Given the description of an element on the screen output the (x, y) to click on. 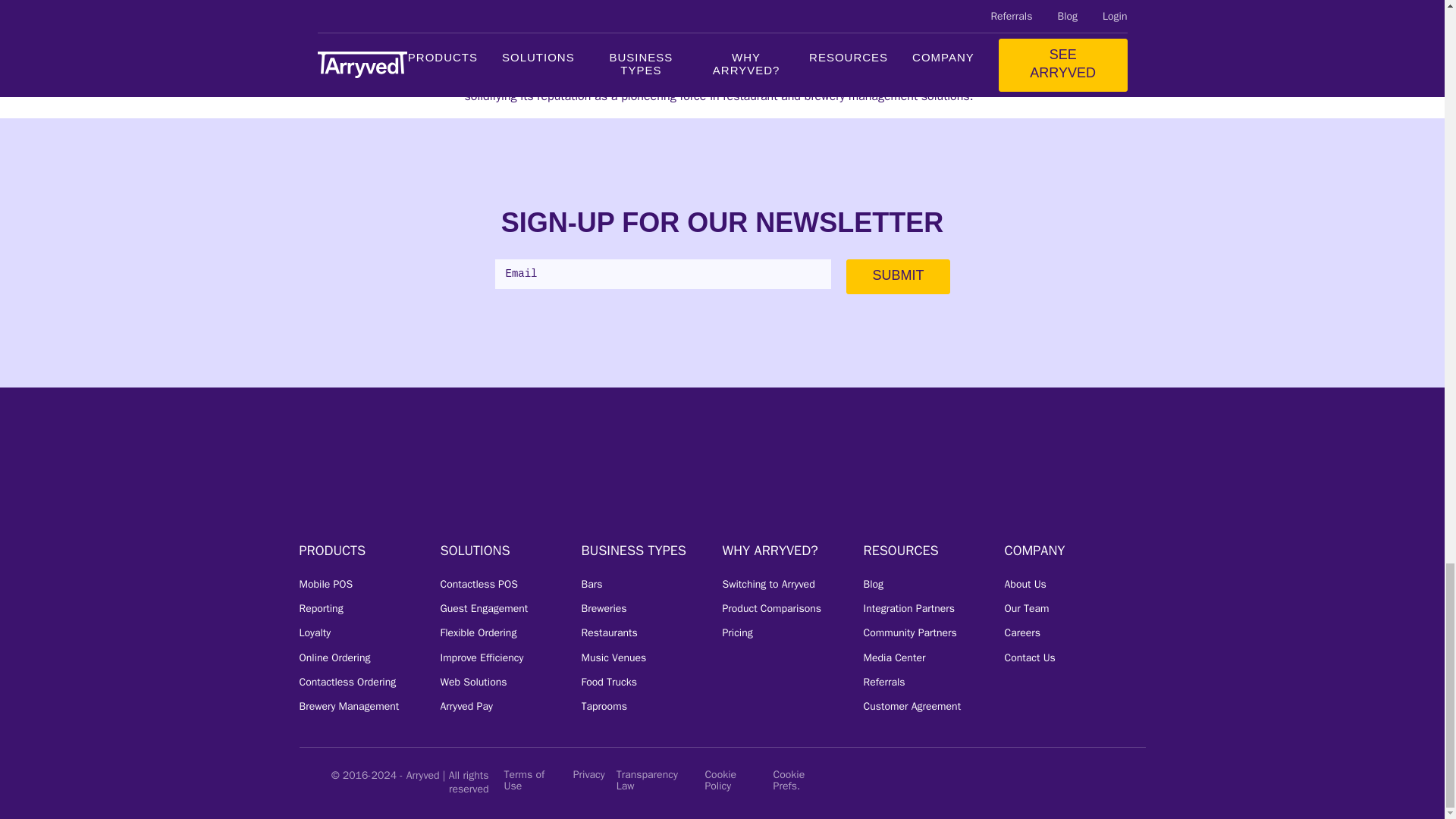
Submit (897, 276)
